Given the description of an element on the screen output the (x, y) to click on. 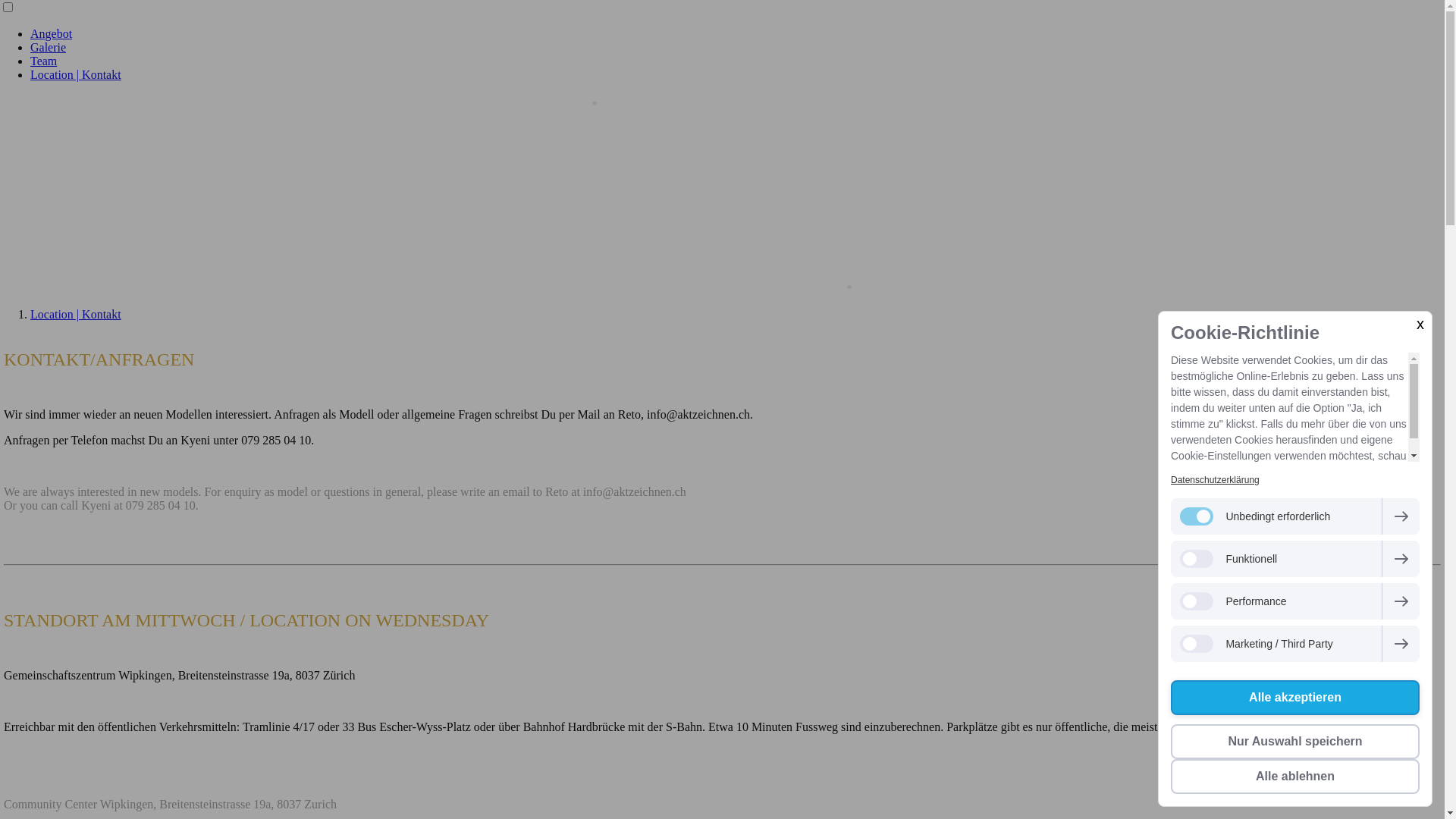
Alle akzeptieren Element type: text (1294, 697)
Nur Auswahl speichern Element type: text (1294, 741)
Angebot Element type: text (51, 33)
Location | Kontakt Element type: text (75, 74)
Alle ablehnen Element type: text (1294, 776)
Team Element type: text (43, 60)
Location | Kontakt Element type: text (75, 313)
Galerie Element type: text (47, 46)
